Given the description of an element on the screen output the (x, y) to click on. 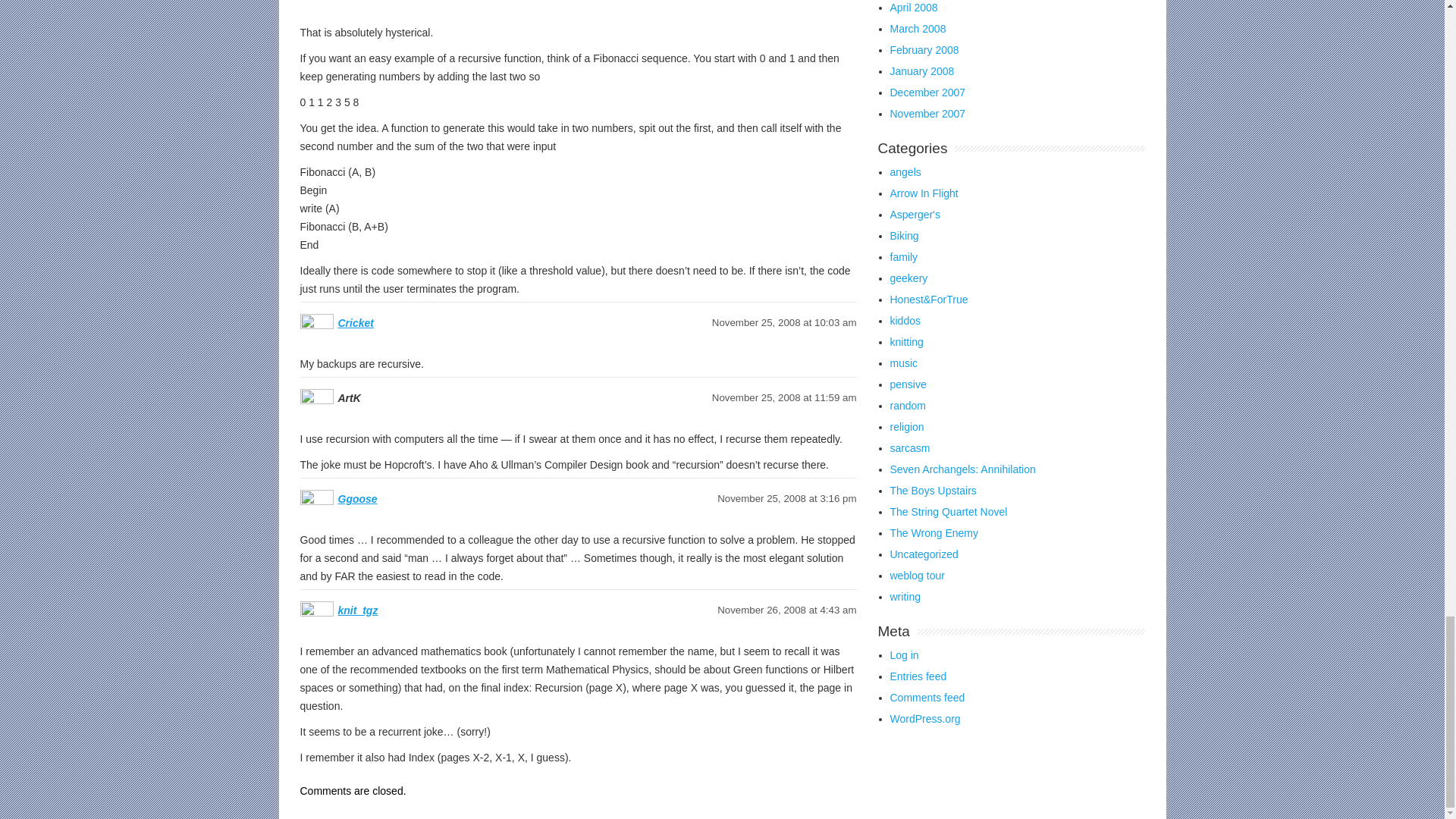
Ggoose (357, 499)
Cricket (355, 322)
